Given the description of an element on the screen output the (x, y) to click on. 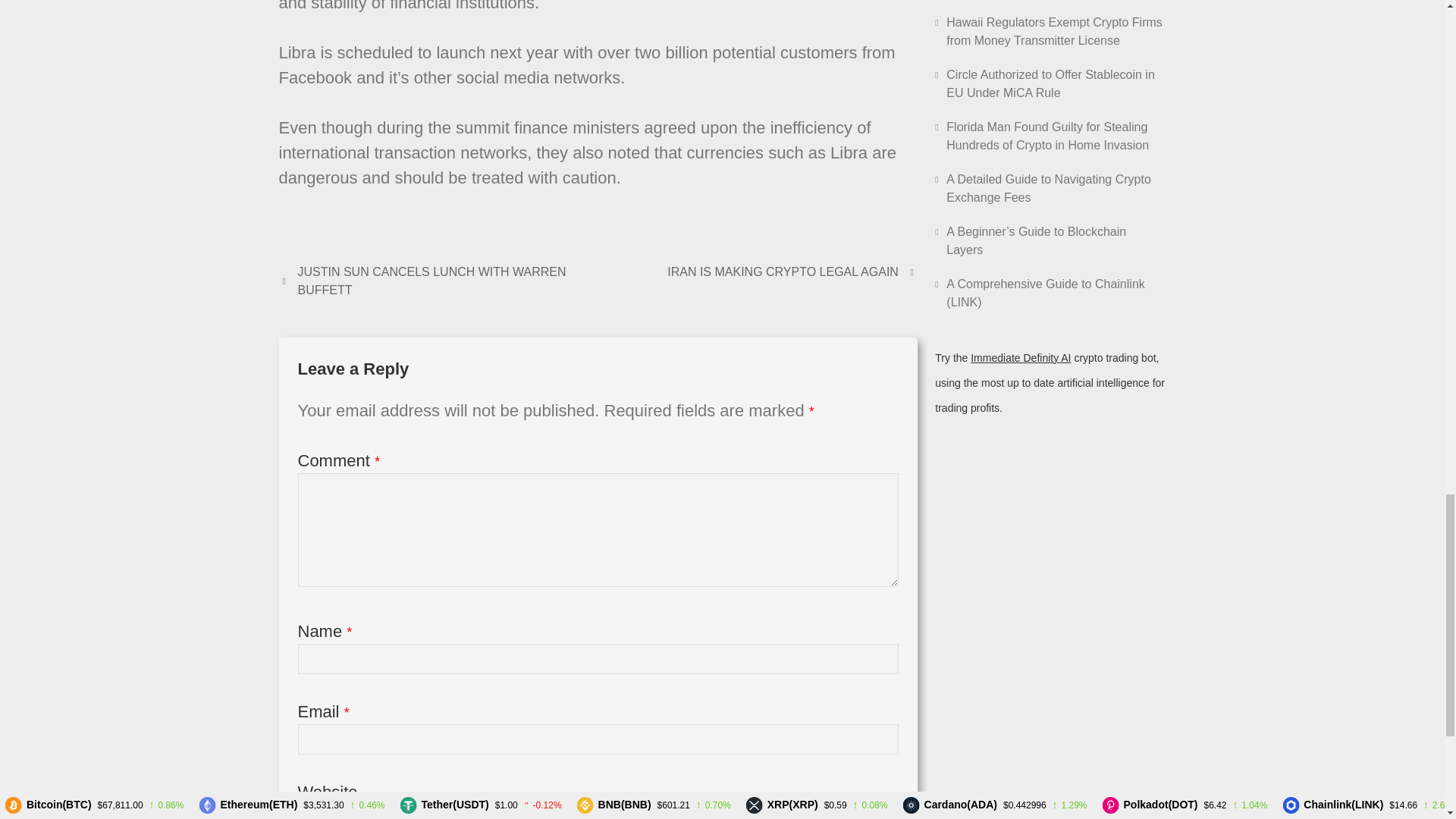
JUSTIN SUN CANCELS LUNCH WITH WARREN BUFFETT (438, 280)
IRAN IS MAKING CRYPTO LEGAL AGAIN (791, 271)
